Given the description of an element on the screen output the (x, y) to click on. 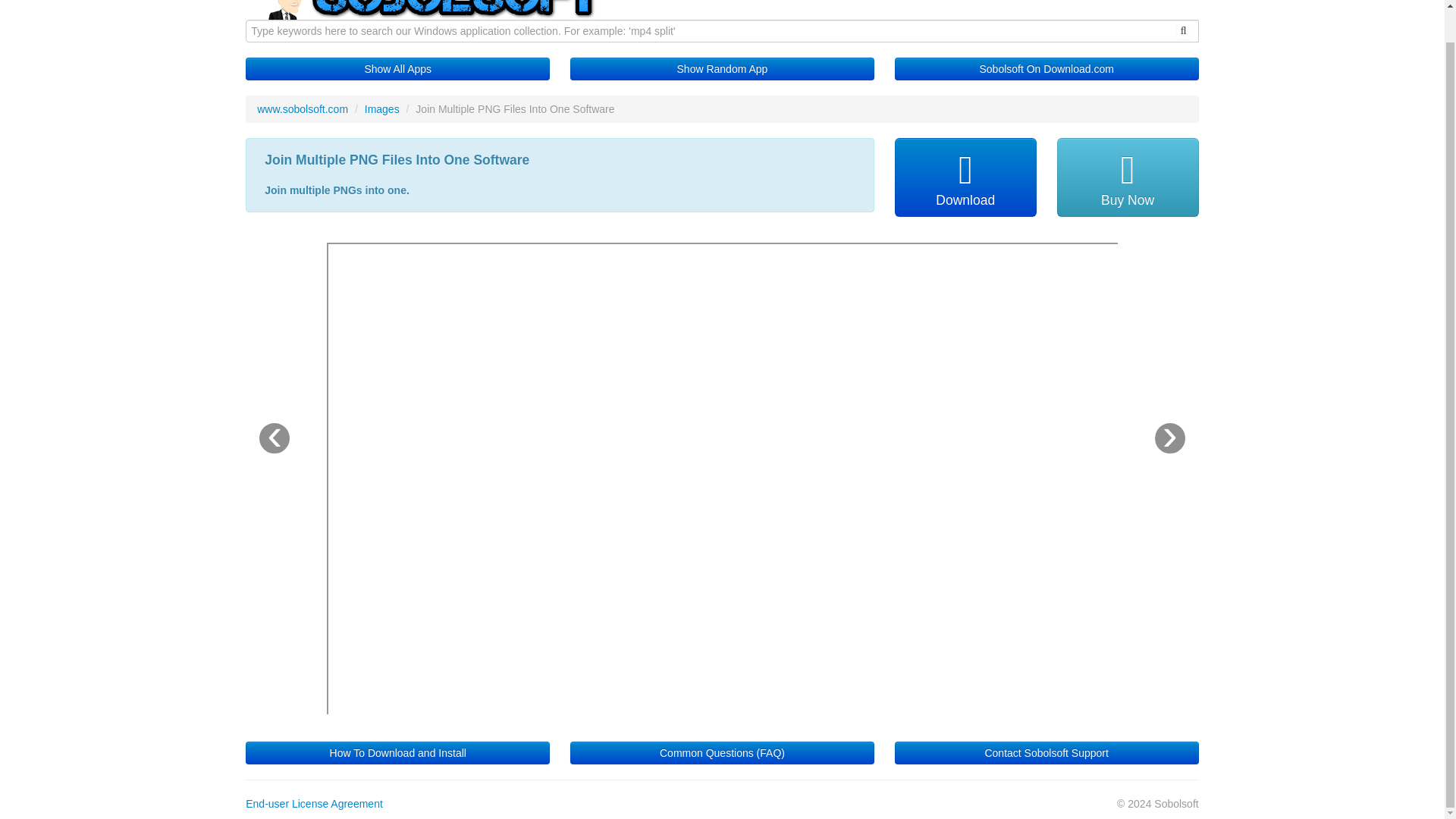
Contact Sobolsoft Support (1046, 753)
How To Download and Install (398, 753)
Download (965, 177)
Show All Apps (398, 68)
Buy Now (1127, 177)
www.sobolsoft.com (302, 109)
End-user License Agreement (314, 803)
Images (381, 109)
Sobolsoft On Download.com (1046, 68)
Show Random App (722, 68)
